Given the description of an element on the screen output the (x, y) to click on. 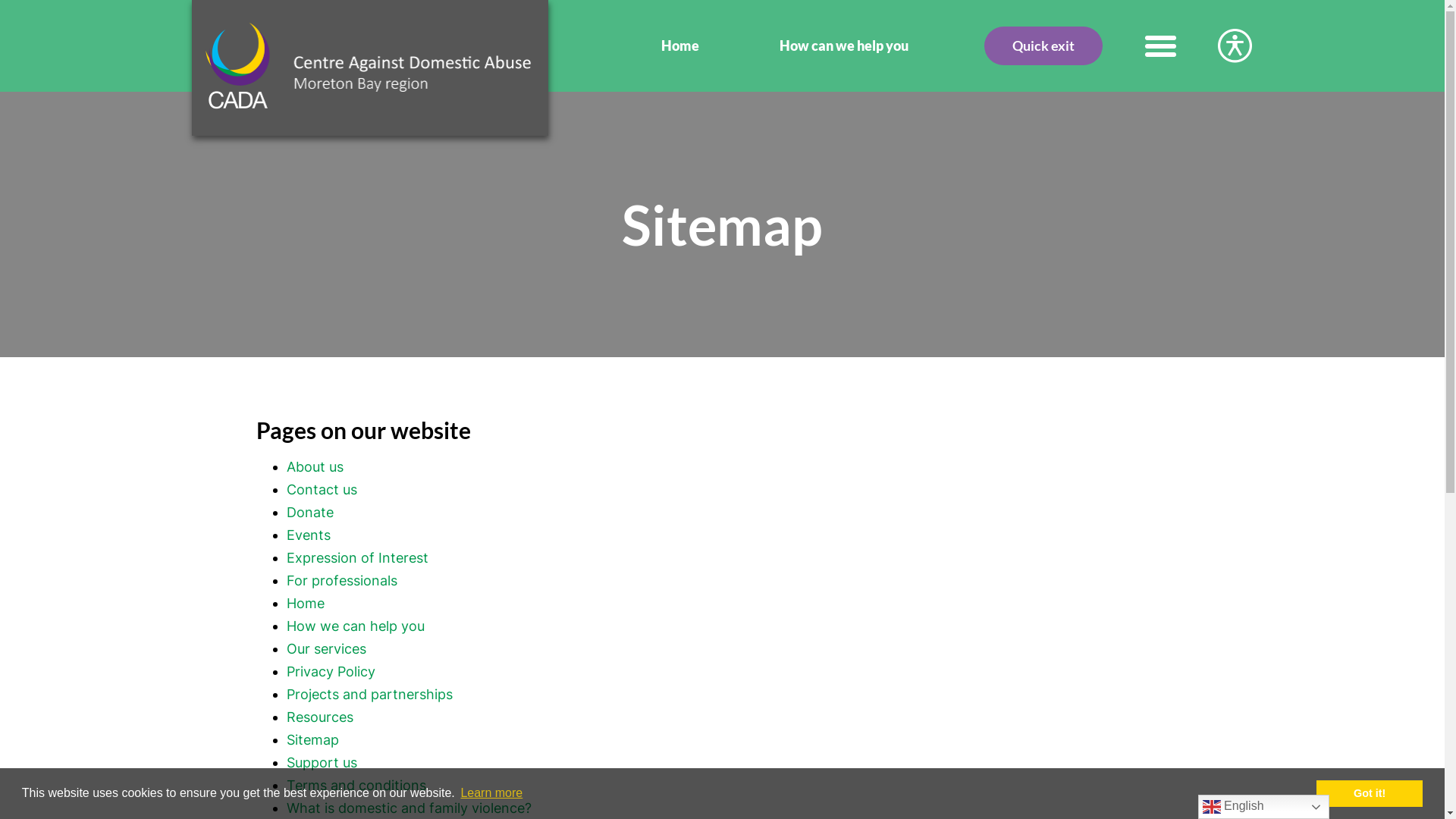
Quick exit Element type: text (1043, 45)
Privacy Policy Element type: text (330, 671)
Contact us Element type: text (321, 489)
For professionals Element type: text (341, 580)
Resources Element type: text (319, 716)
Expression of Interest Element type: text (357, 557)
What is domestic and family violence? Element type: text (408, 807)
Home Element type: text (680, 44)
Sitemap Element type: text (312, 739)
How can we help you Element type: text (843, 44)
Projects and partnerships Element type: text (369, 694)
Terms and conditions Element type: text (356, 785)
Our services Element type: text (326, 648)
How we can help you Element type: text (355, 625)
About us Element type: text (314, 466)
Got it! Element type: text (1369, 792)
Donate Element type: text (309, 512)
Home Element type: text (305, 603)
Learn more Element type: text (491, 792)
Events Element type: text (308, 534)
Support us Element type: text (321, 762)
